Given the description of an element on the screen output the (x, y) to click on. 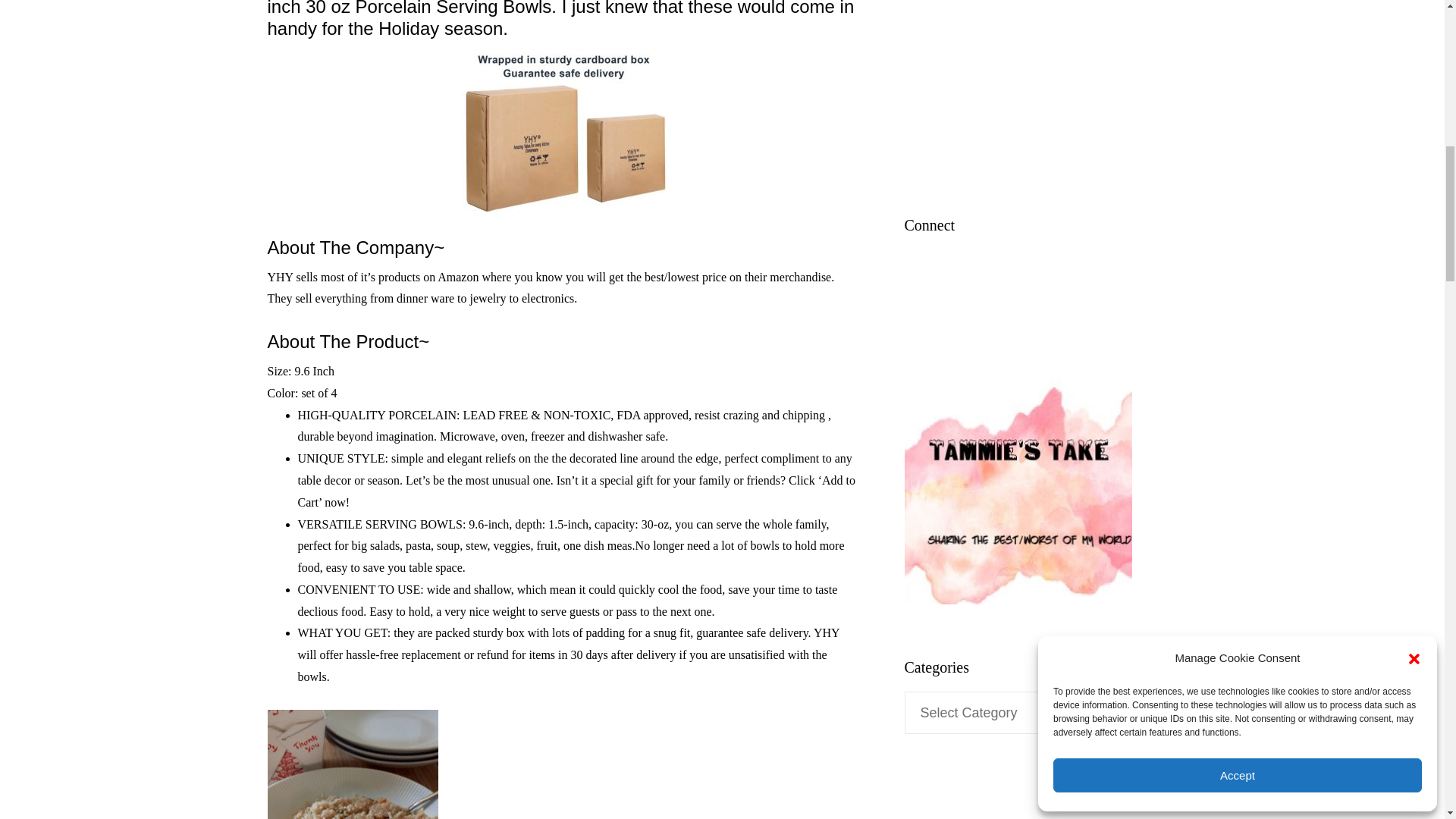
Advertisement (1040, 82)
